Given the description of an element on the screen output the (x, y) to click on. 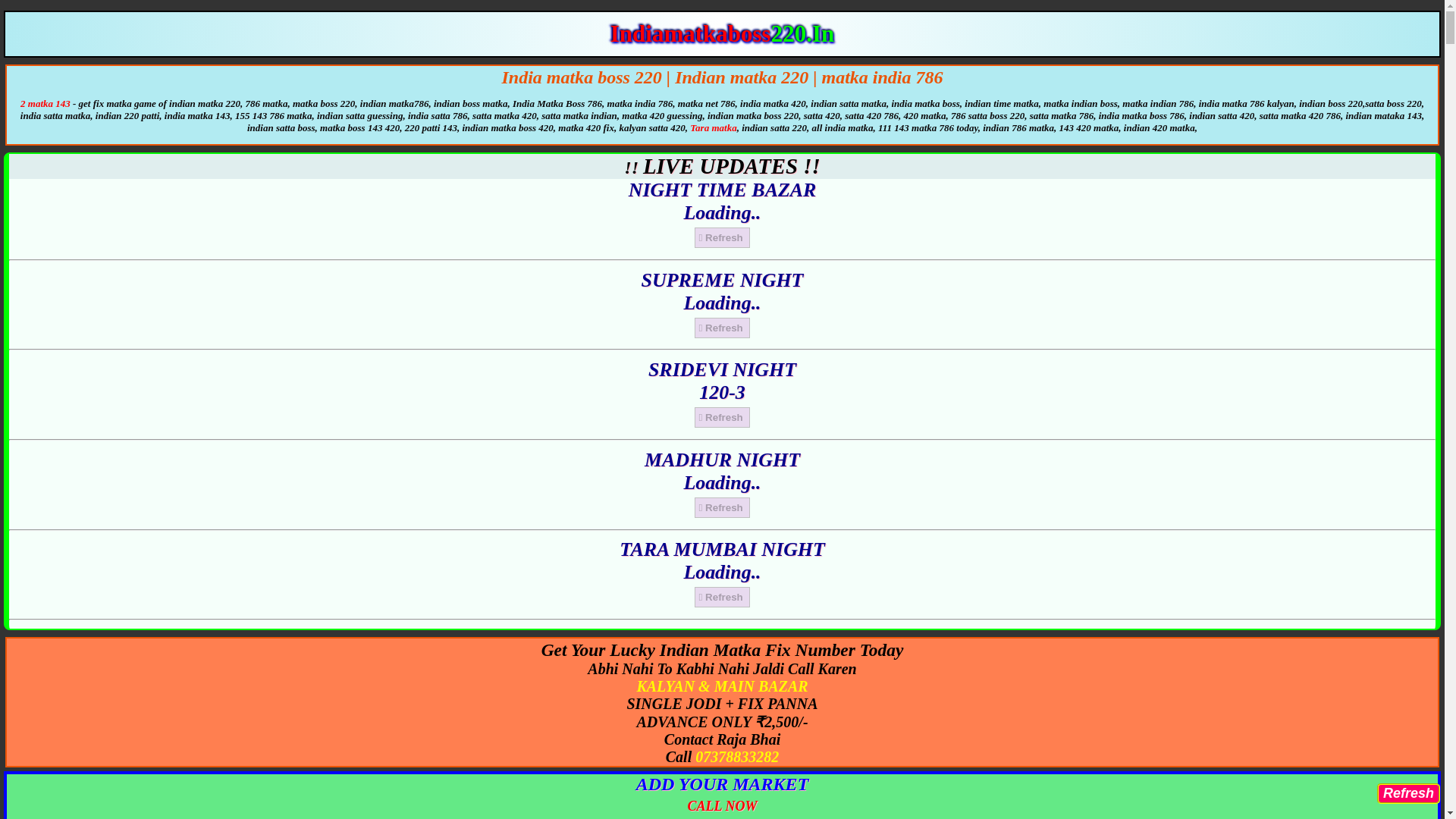
Satta Matka (713, 127)
CALL NOW (722, 804)
Indiamatkaboss220.In (722, 33)
indian matka (722, 33)
2 matka 143 (46, 102)
Call Now (722, 804)
07378833282 (736, 756)
satta matka 143 (46, 102)
Tara matka (713, 127)
Refresh (1408, 792)
